Given the description of an element on the screen output the (x, y) to click on. 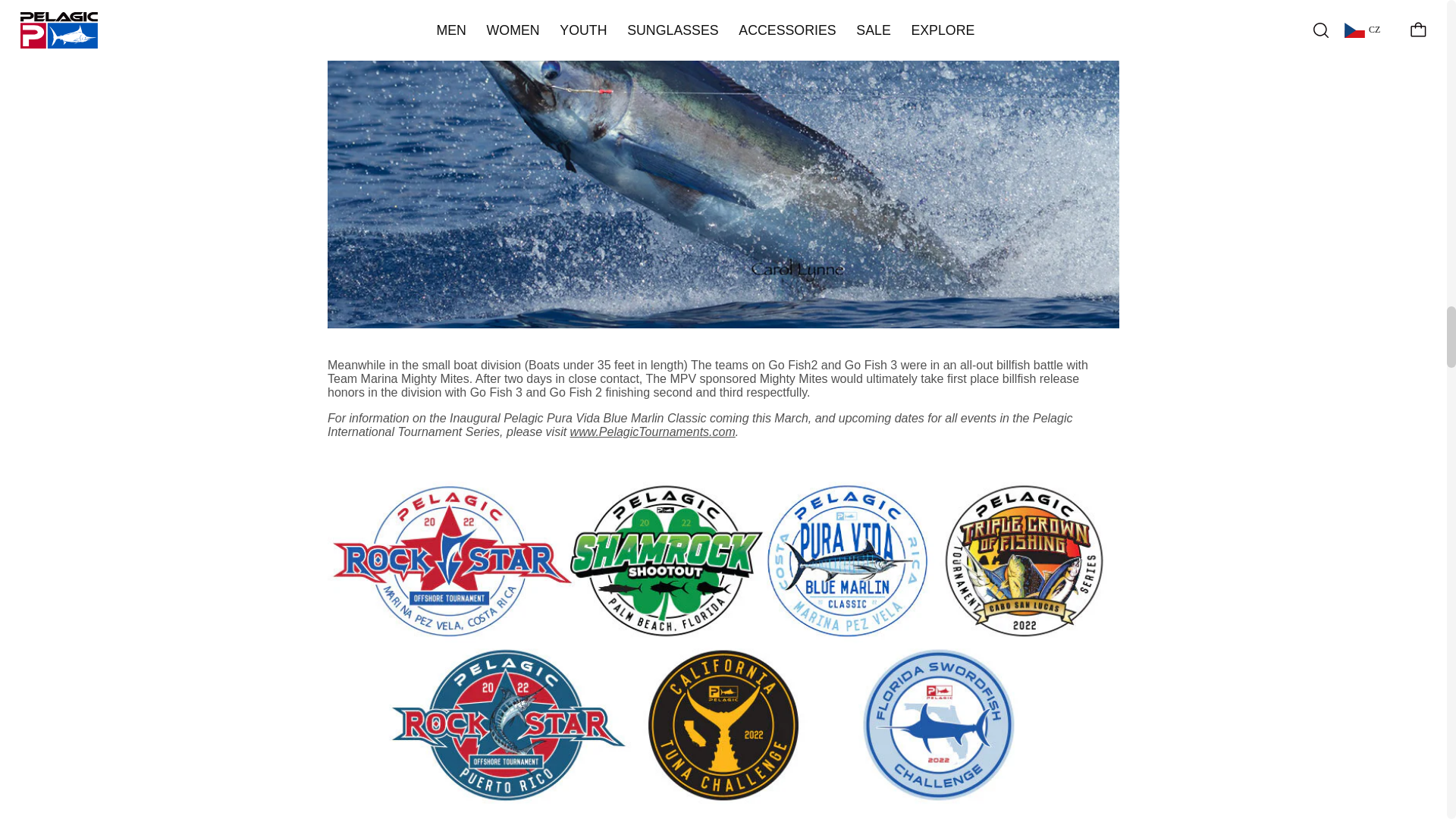
Pelagic Tournaments (652, 431)
